Given the description of an element on the screen output the (x, y) to click on. 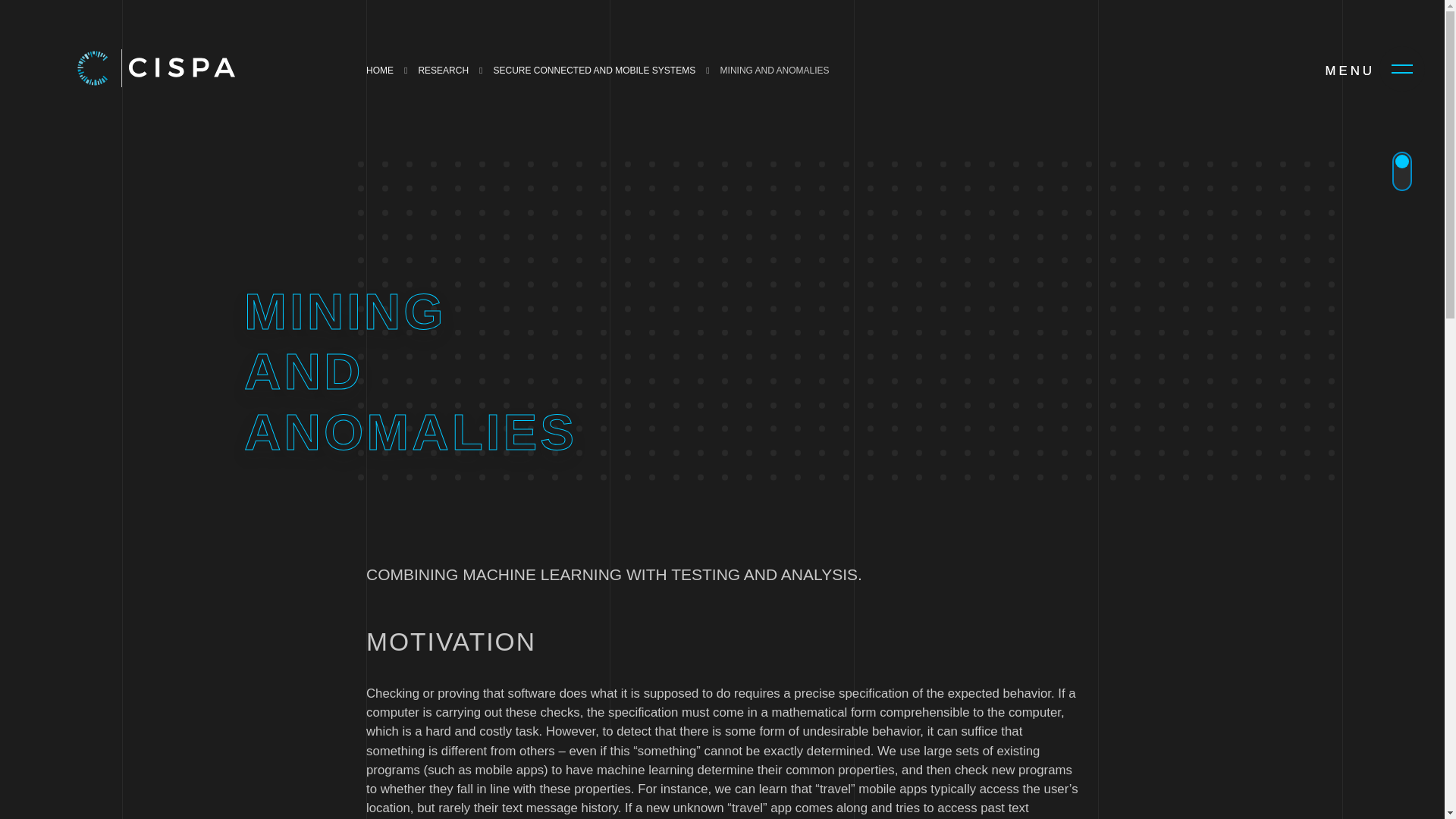
CISPA (94, 67)
To navigation menu (1401, 68)
CISPA (177, 67)
